Given the description of an element on the screen output the (x, y) to click on. 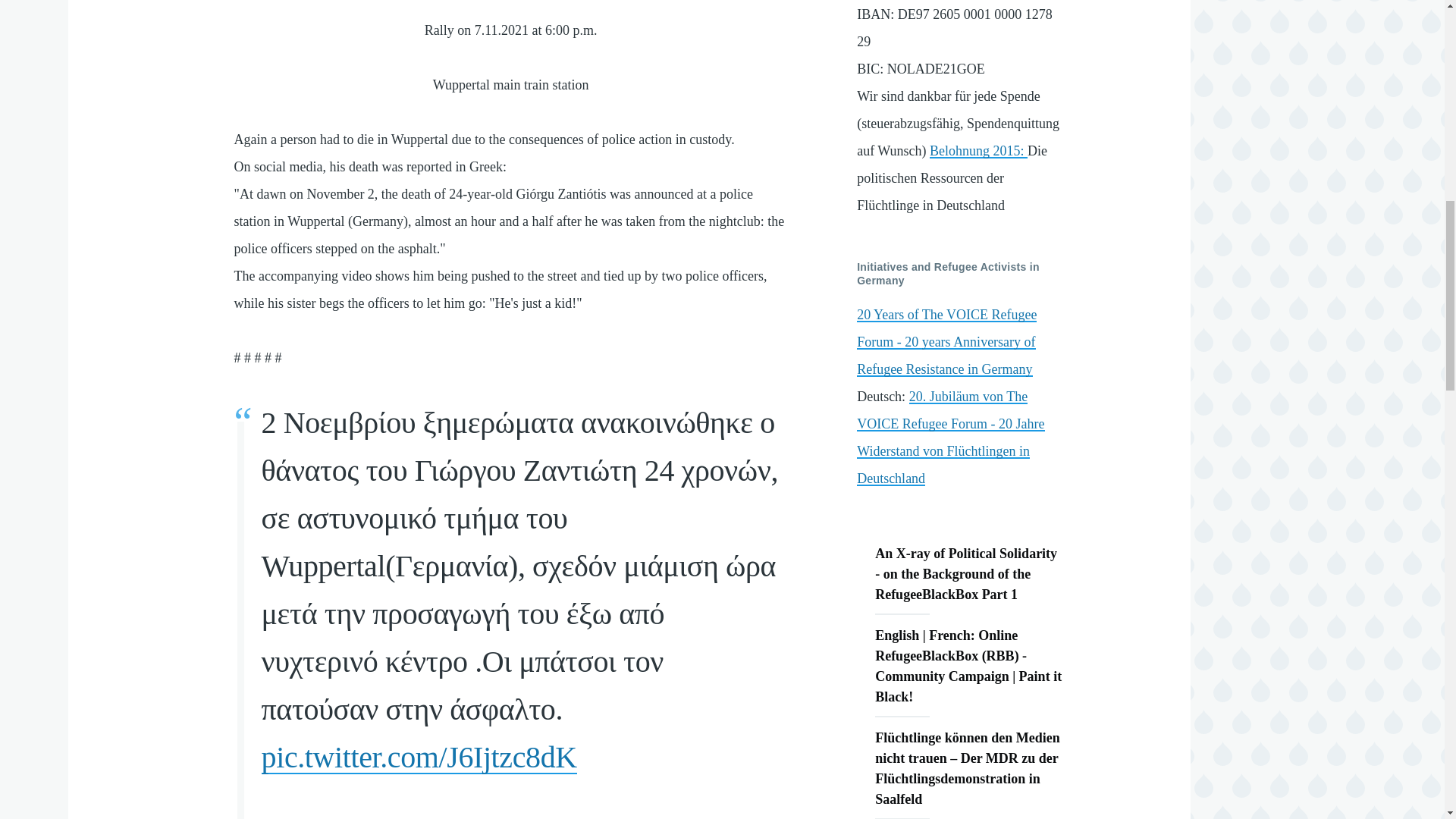
Belohnung 2015: (978, 150)
Background Analysis of the RefugeeBlackBox  Part 1 (969, 574)
